Given the description of an element on the screen output the (x, y) to click on. 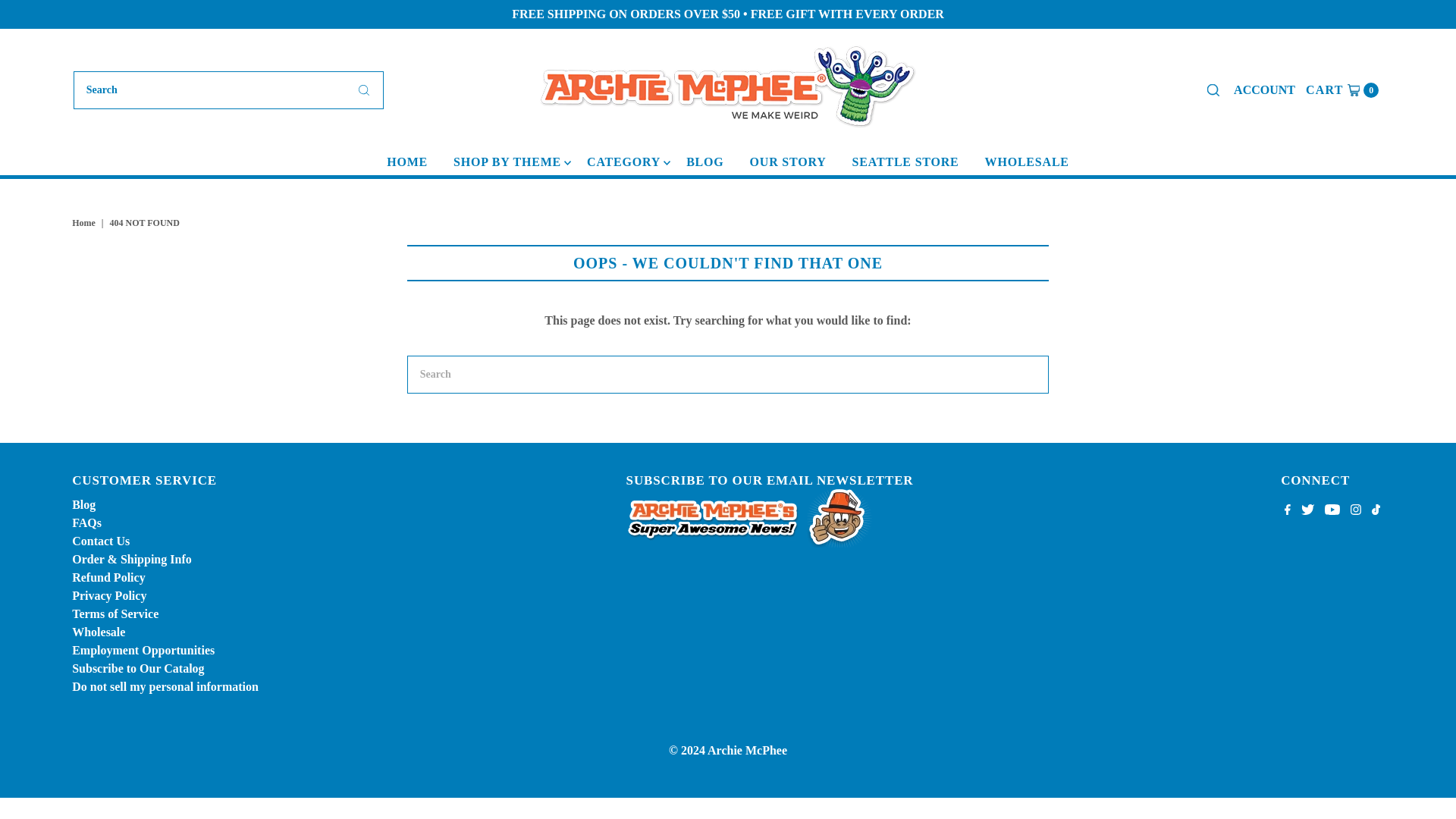
Tiktok (1375, 510)
ACCOUNT (1264, 89)
Home (1341, 89)
HOME (85, 222)
SHOP BY THEME (407, 161)
